Given the description of an element on the screen output the (x, y) to click on. 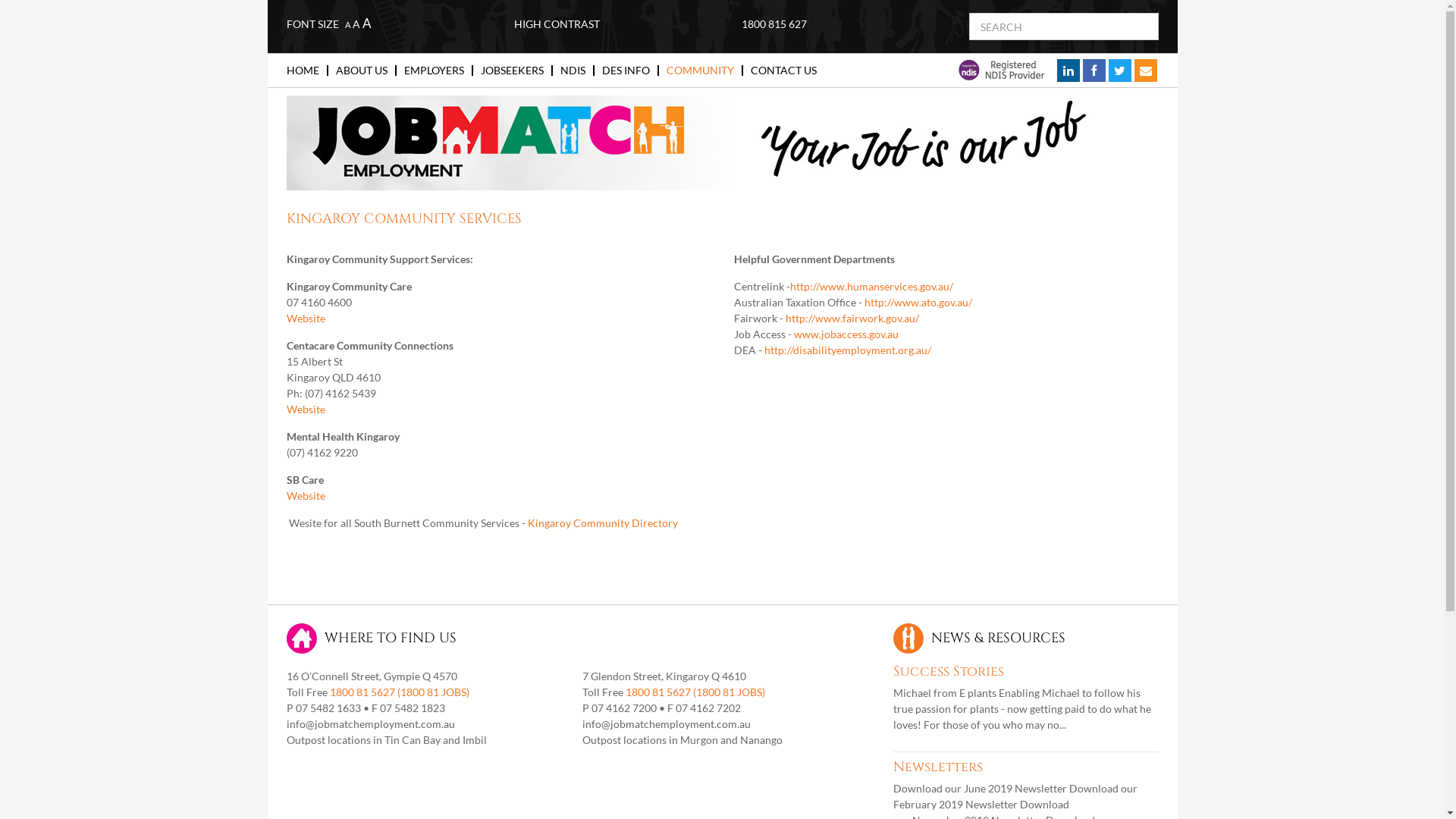
Website Element type: text (305, 408)
JOBSEEKERS Element type: text (516, 70)
DES INFO Element type: text (630, 70)
HIGH CONTRAST Element type: text (556, 23)
KINGAROY COMMUNITY SERVICES Element type: text (403, 218)
A Element type: text (366, 23)
Newsletters Element type: text (937, 766)
CONTACT US Element type: text (783, 70)
ABOUT US Element type: text (365, 70)
A Element type: text (346, 24)
http://www.fairwork.gov.au/ Element type: text (852, 317)
http://www.ato.gov.au/ Element type: text (918, 301)
http://www.humanservices.gov.au/ Element type: text (871, 285)
1800 81 5627 (1800 81 JOBS) Element type: text (398, 691)
Website Element type: text (305, 495)
NDIS Element type: text (576, 70)
Success Stories Element type: text (948, 671)
A Element type: text (355, 23)
HOME Element type: text (307, 70)
Kingaroy Community Directory Element type: text (602, 522)
1800 815 627 Element type: text (773, 23)
http://disabilityemployment.org.au/ Element type: text (847, 349)
COMMUNITY Element type: text (703, 70)
1800 81 5627 (1800 81 JOBS) Element type: text (694, 691)
www.jobaccess.gov.au Element type: text (845, 333)
Website  Element type: text (306, 317)
EMPLOYERS Element type: text (437, 70)
